Given the description of an element on the screen output the (x, y) to click on. 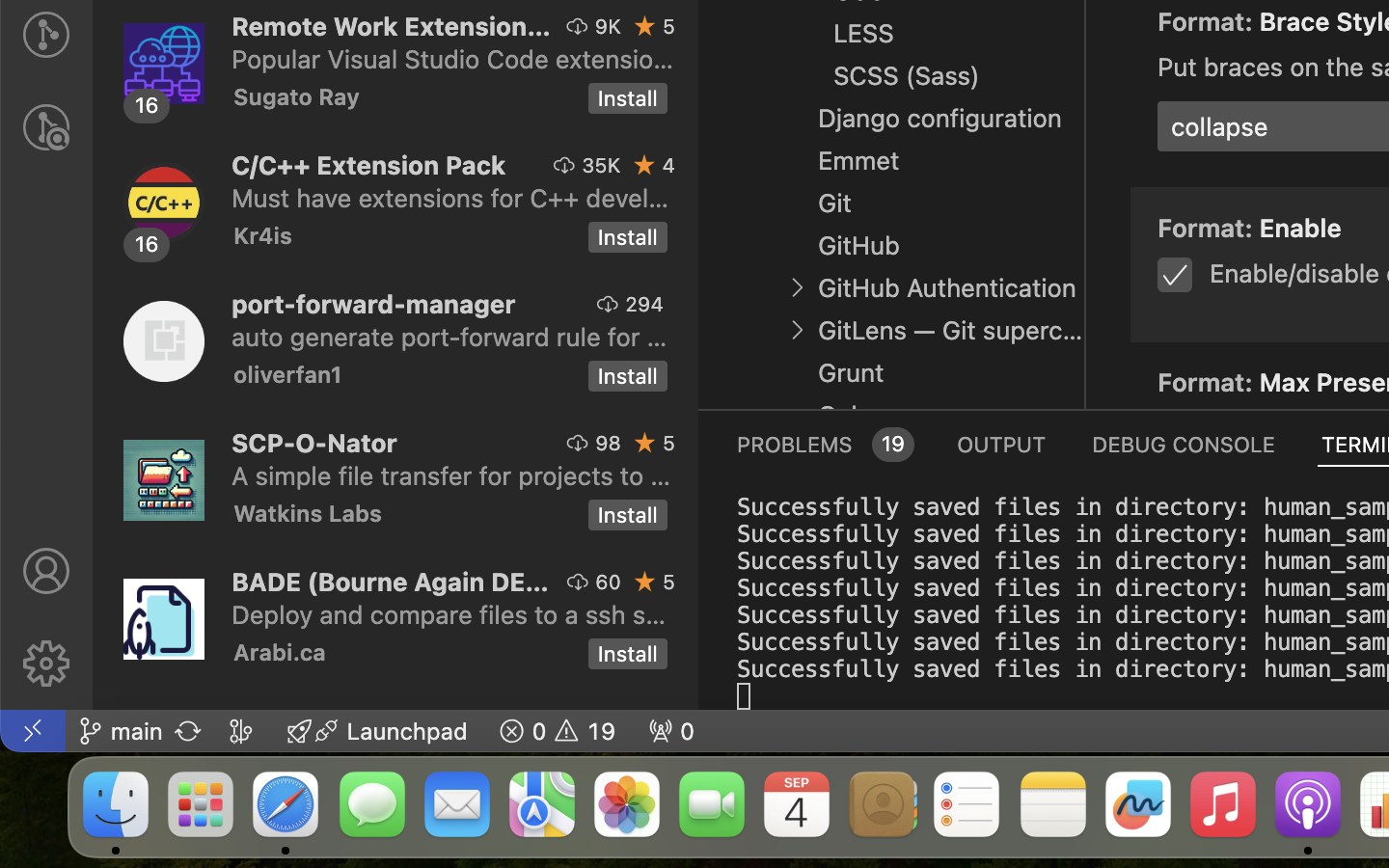
A simple file transfer for projects to and from servers suporting scp (ssh file transfer). Element type: AXStaticText (451, 475)
